Given the description of an element on the screen output the (x, y) to click on. 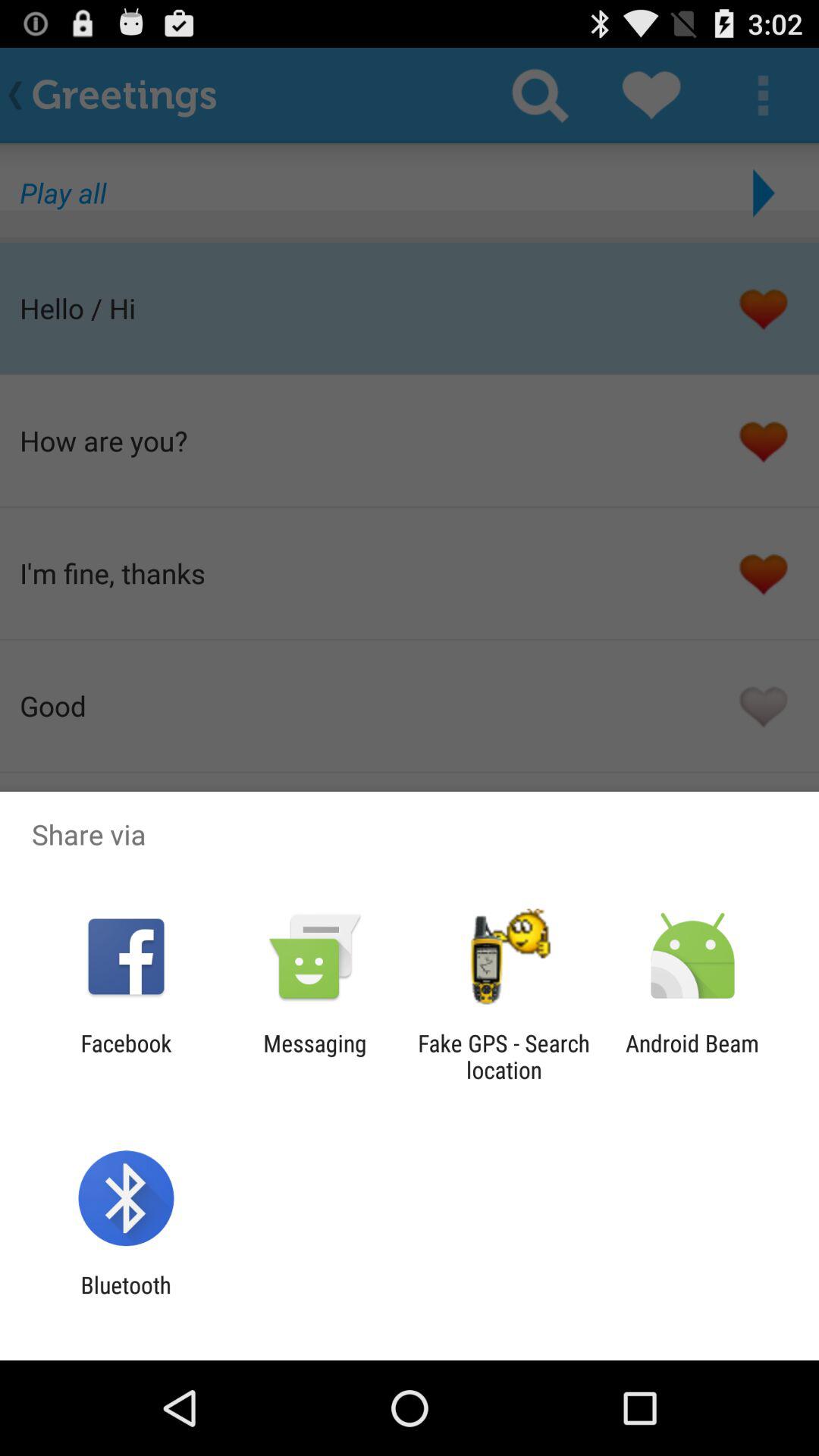
turn off app to the right of the facebook icon (314, 1056)
